Given the description of an element on the screen output the (x, y) to click on. 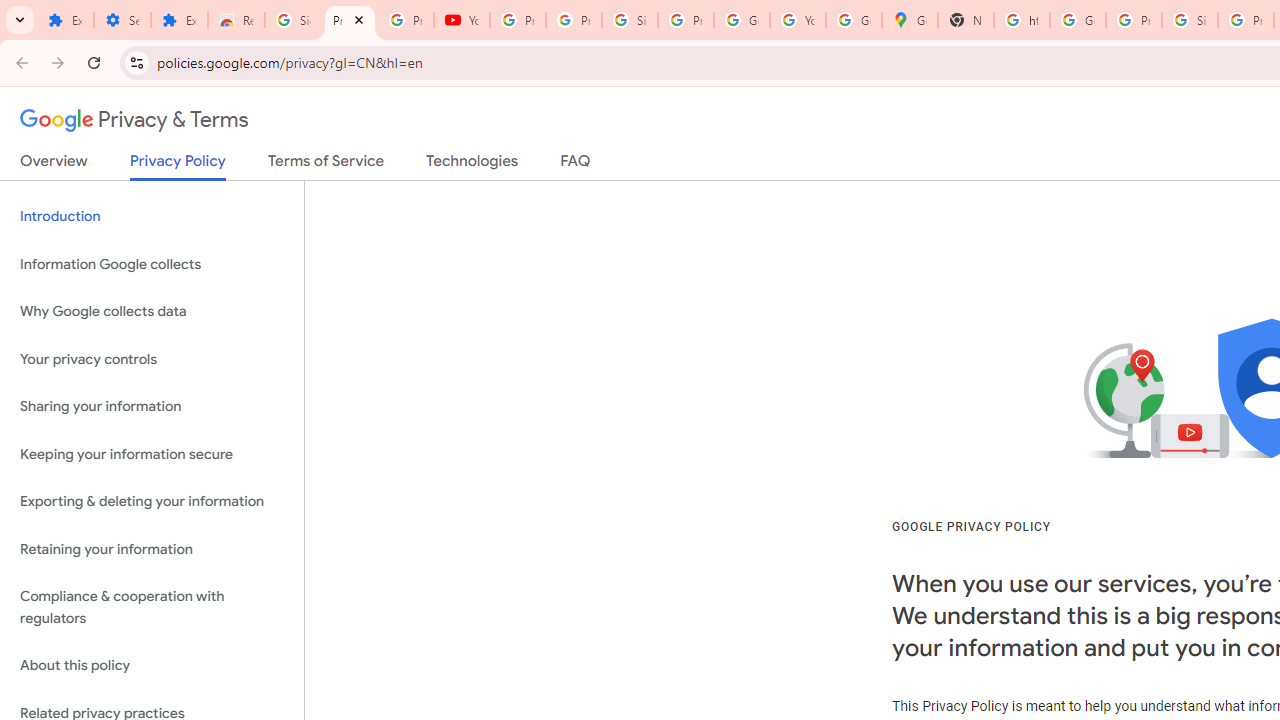
Reviews: Helix Fruit Jump Arcade Game (235, 20)
Compliance & cooperation with regulators (152, 607)
New Tab (966, 20)
Sign in - Google Accounts (1190, 20)
Exporting & deleting your information (152, 502)
Why Google collects data (152, 312)
